Given the description of an element on the screen output the (x, y) to click on. 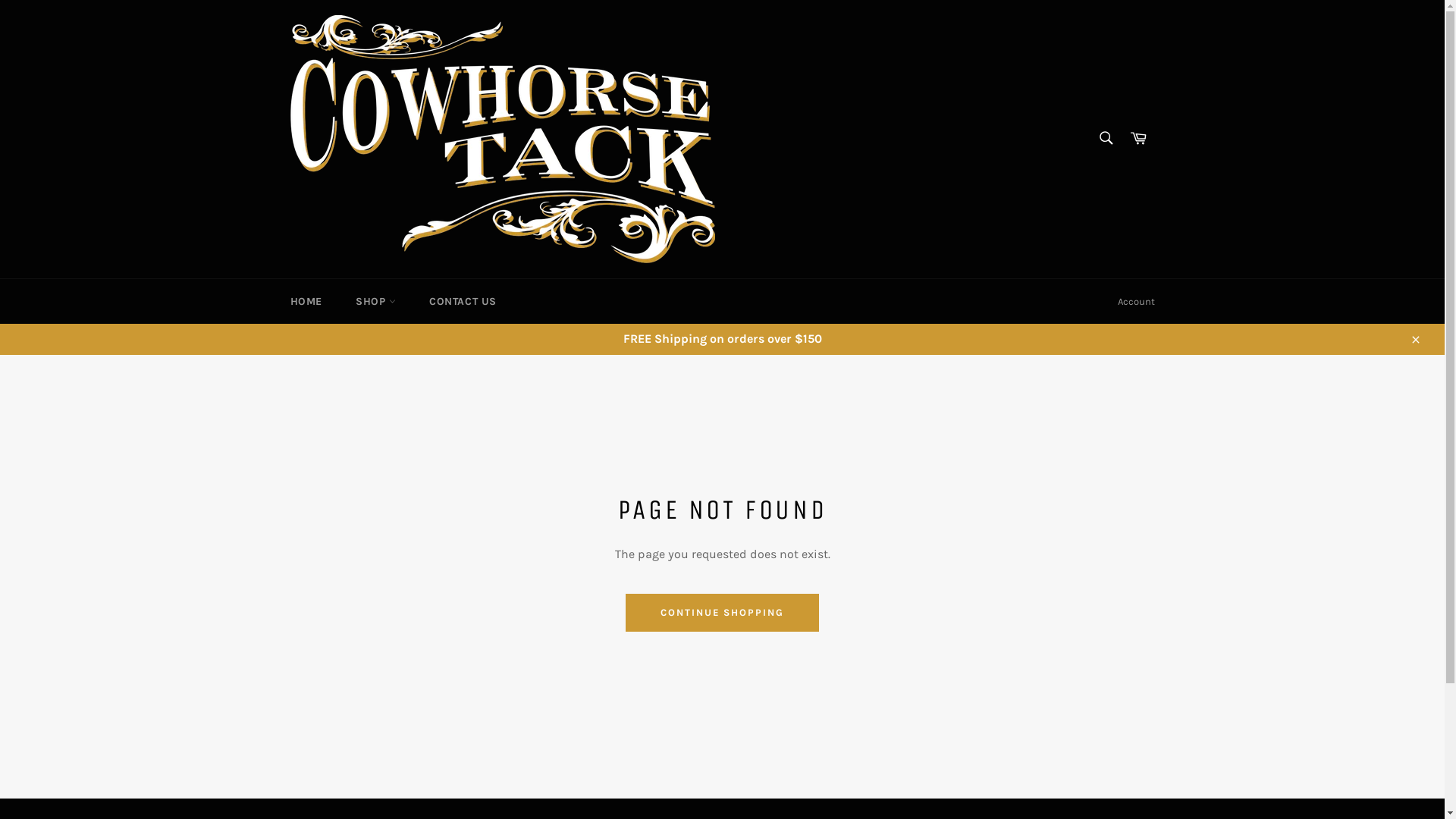
Close Element type: text (1414, 338)
Account Element type: text (1136, 301)
Search Element type: text (1105, 137)
CONTACT US Element type: text (462, 301)
SHOP Element type: text (375, 301)
CONTINUE SHOPPING Element type: text (722, 612)
Cart Element type: text (1138, 139)
HOME Element type: text (305, 301)
